Given the description of an element on the screen output the (x, y) to click on. 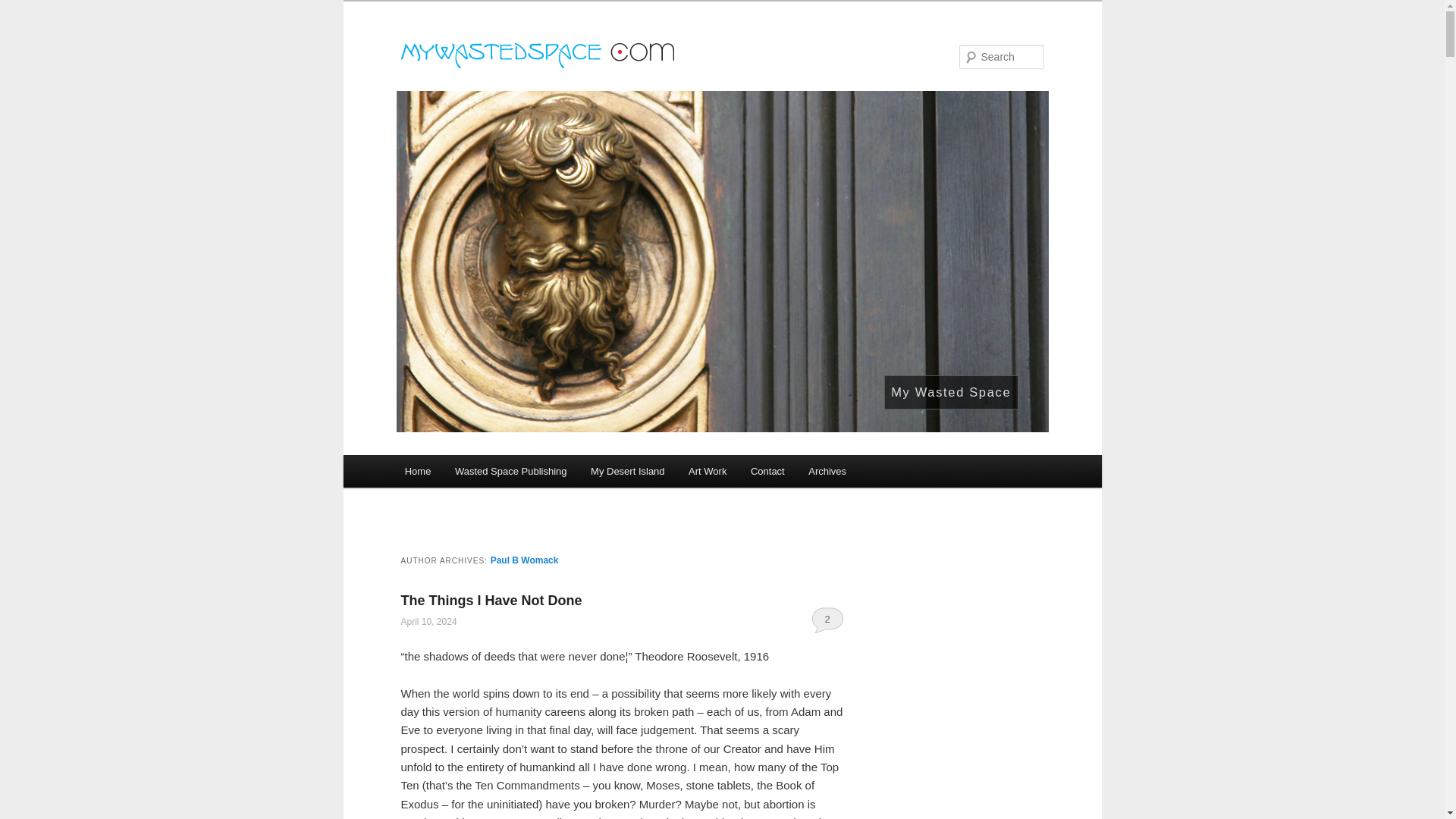
Paul B Womack (524, 560)
Archives (826, 471)
Search (24, 8)
My Desert Island (627, 471)
12:28 pm (428, 621)
April 10, 2024 (428, 621)
Paul B Womack (524, 560)
Wasted Space Publishing (510, 471)
Home (417, 471)
My Wasted Space (950, 392)
2 (827, 619)
The Things I Have Not Done (490, 600)
Art Work (707, 471)
